Given the description of an element on the screen output the (x, y) to click on. 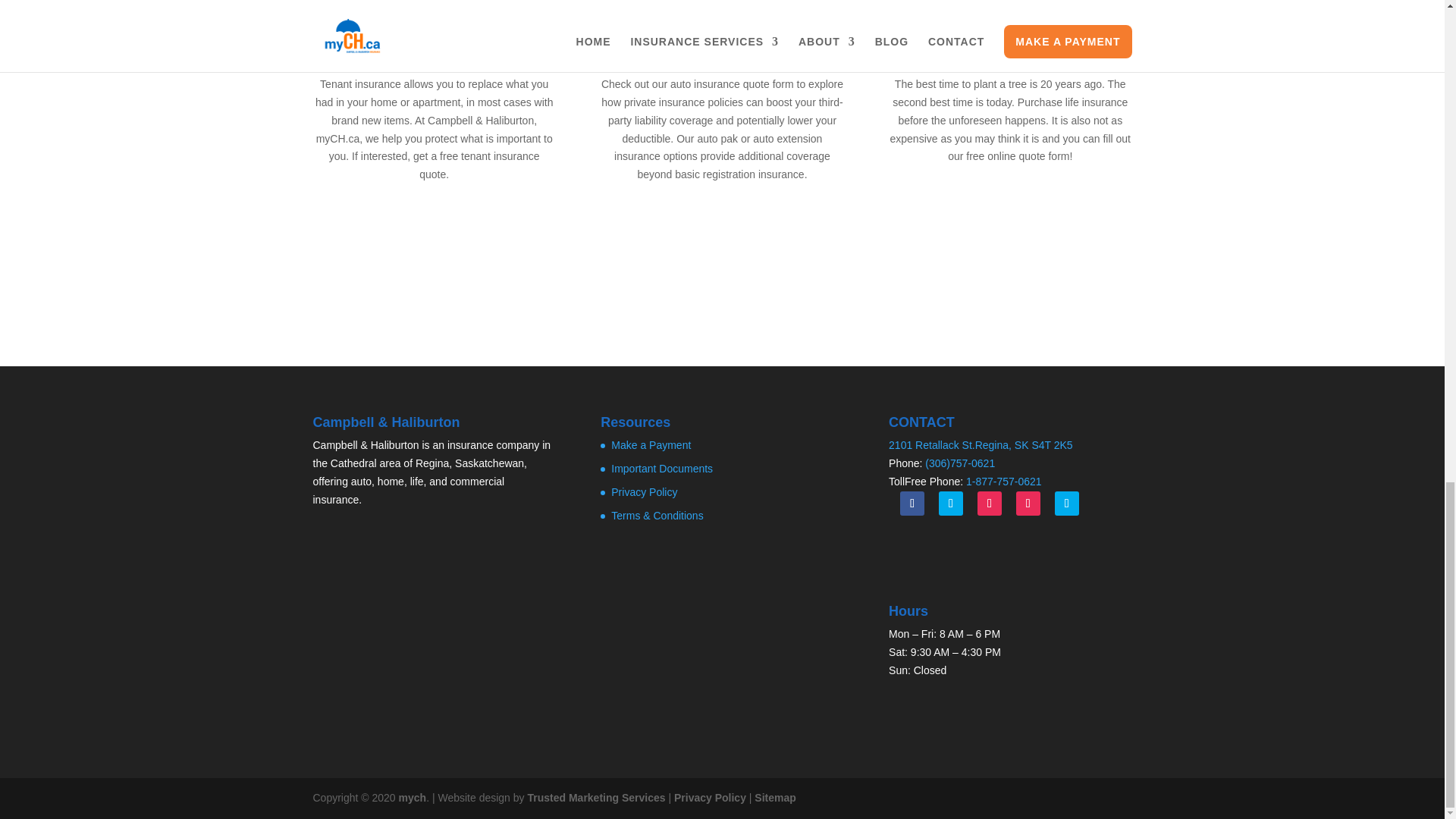
mych (412, 797)
Trusted Marketing Services (596, 797)
Important Documents (662, 468)
Privacy Policy (709, 797)
Privacy Policy (644, 491)
2101 Retallack St.Regina, SK S4T 2K5 (980, 444)
Make a Payment (650, 444)
Explore our other insurance quotes (722, 260)
1-877-757-0621 (1004, 481)
